Given the description of an element on the screen output the (x, y) to click on. 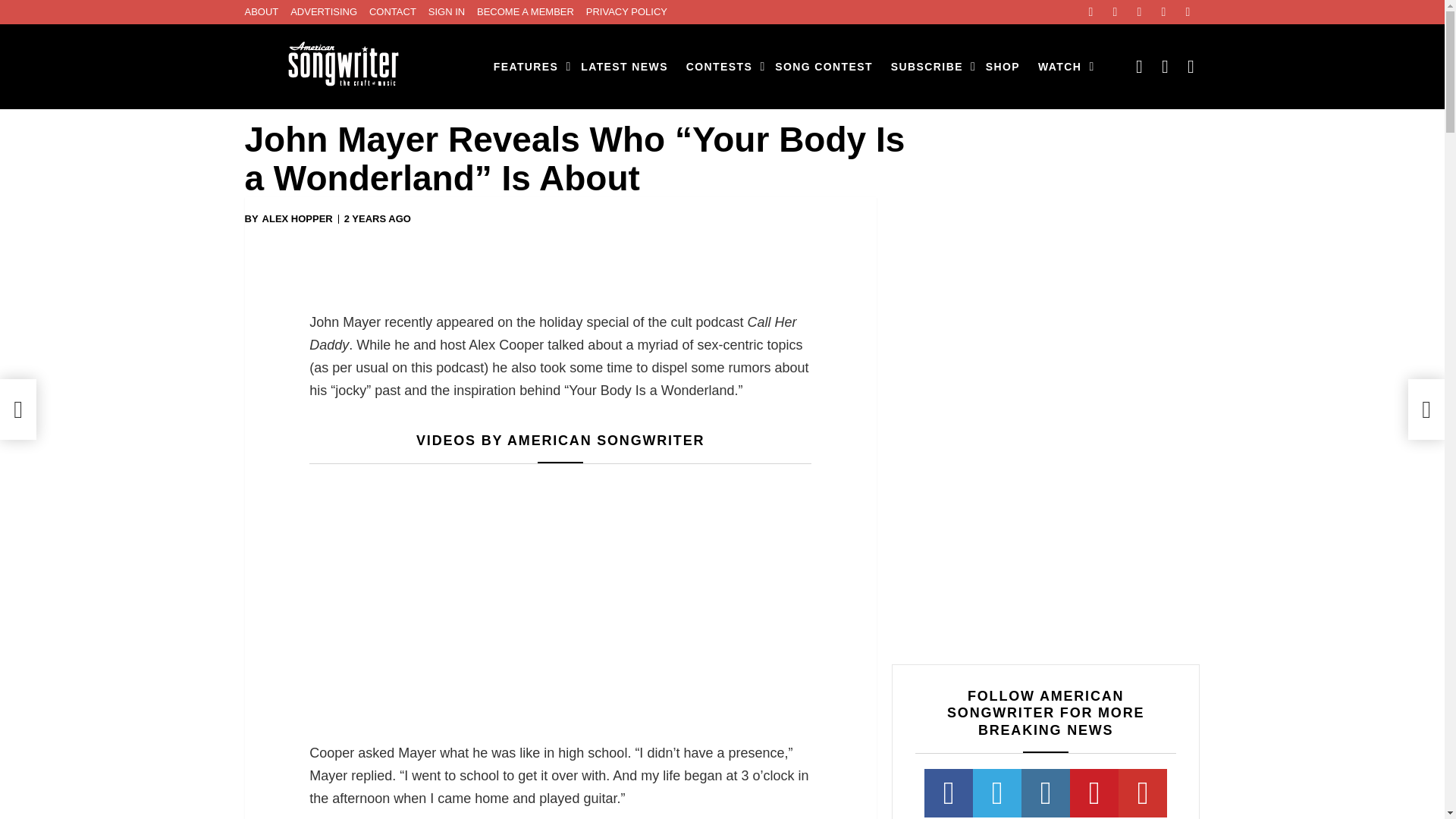
LATEST NEWS (624, 66)
FEATURES (528, 66)
Facebook (1090, 11)
youtube (1186, 11)
Twitter (1114, 11)
CONTESTS (721, 66)
ABOUT (261, 12)
CONTACT (392, 12)
Posts by Alex Hopper (297, 219)
December 21, 2022, 11:10 am (376, 219)
pinterest (1162, 11)
PRIVACY POLICY (626, 12)
BECOME A MEMBER (525, 12)
ADVERTISING (322, 12)
3rd party ad content (559, 270)
